Given the description of an element on the screen output the (x, y) to click on. 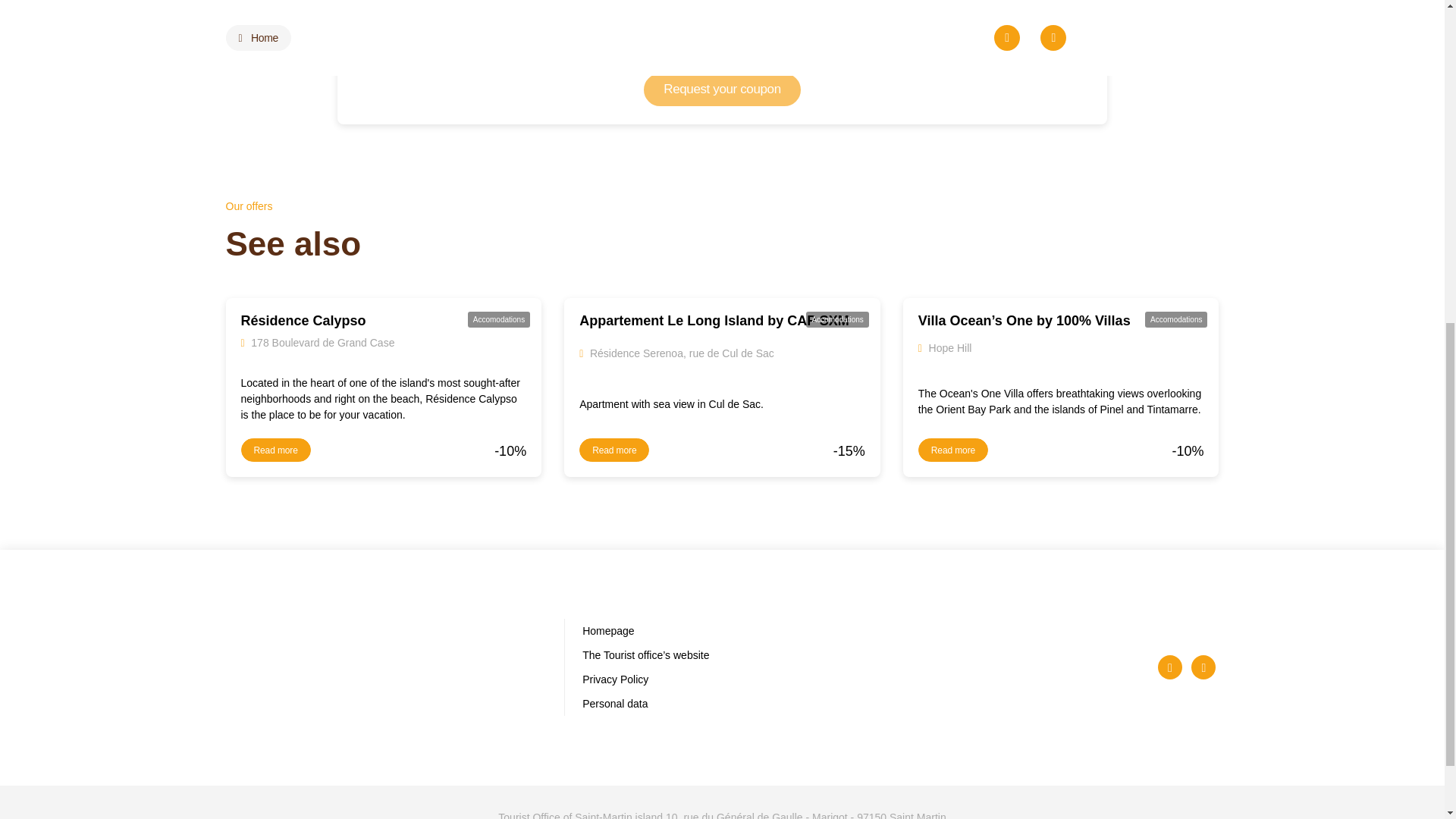
St-Martin For You (383, 666)
Accomodations (498, 319)
Send (1055, 506)
Request your coupon (721, 89)
